Given the description of an element on the screen output the (x, y) to click on. 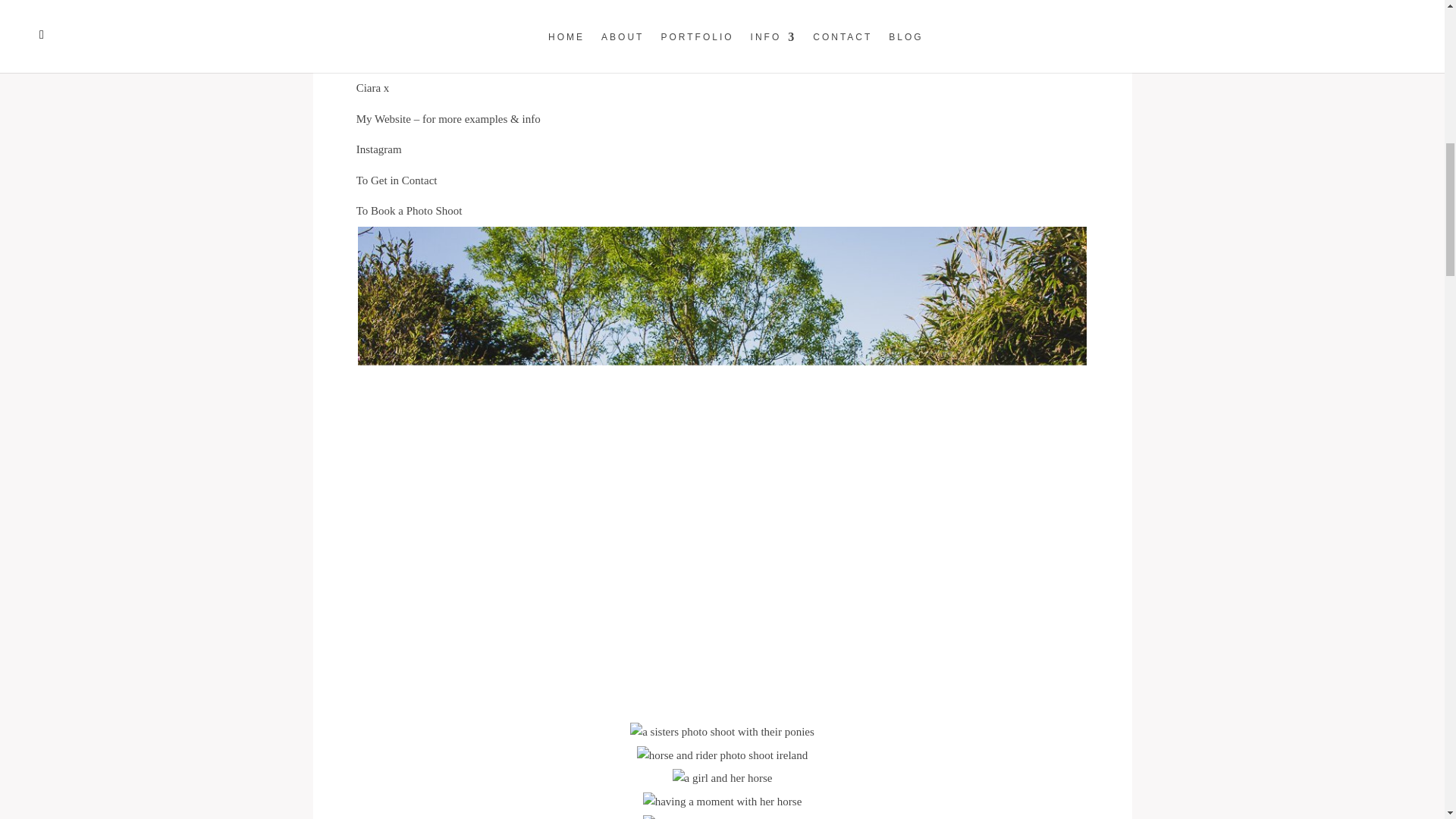
To Get in Contact (397, 180)
Instagram (378, 149)
To Book a Photo Shoot (409, 210)
